Given the description of an element on the screen output the (x, y) to click on. 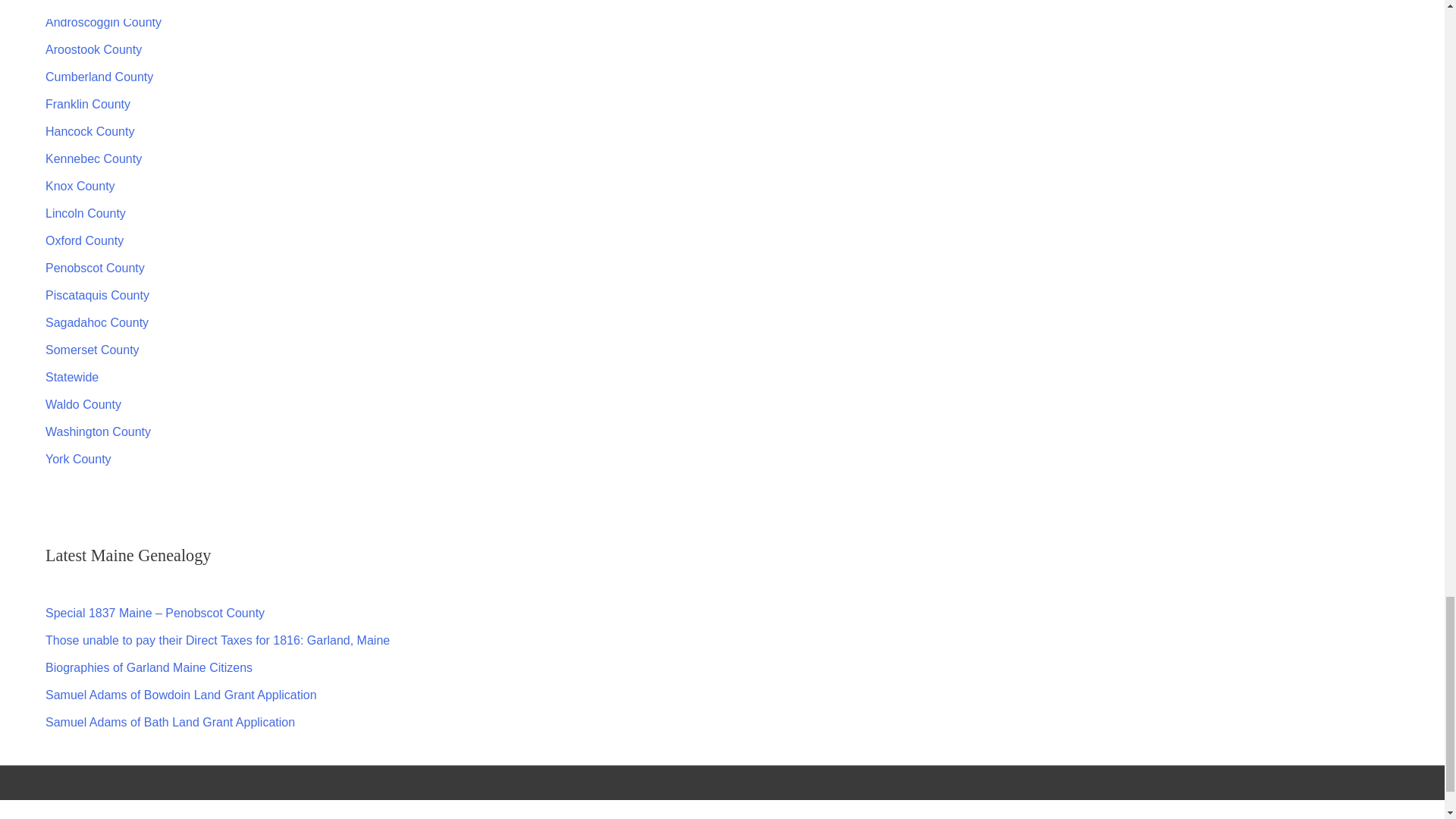
Aroostook County (93, 49)
Androscoggin County (103, 21)
Cumberland County (98, 76)
Franklin County (88, 103)
